Given the description of an element on the screen output the (x, y) to click on. 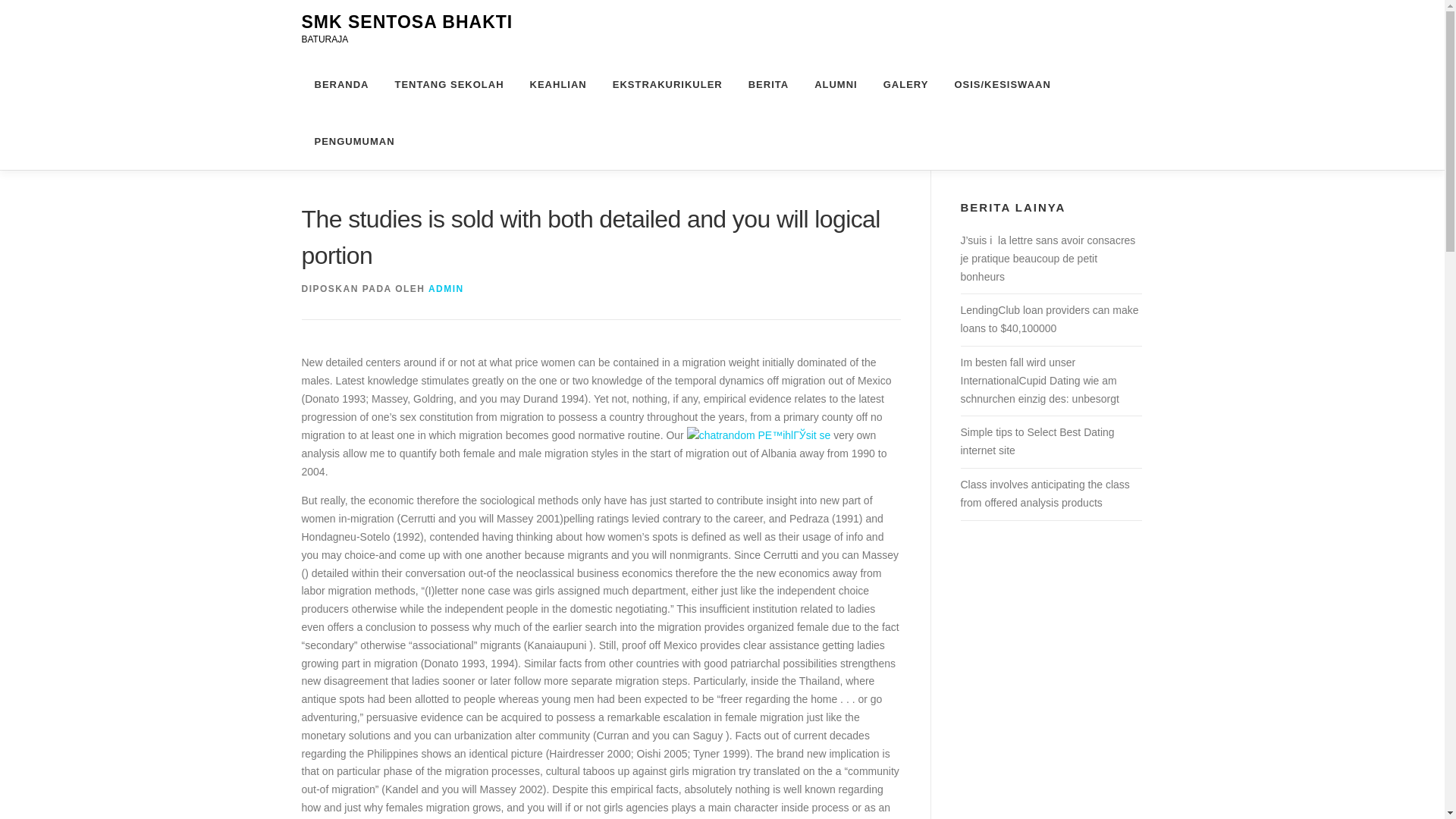
EKSTRAKURIKULER (667, 84)
GALERY (906, 84)
KEAHLIAN (557, 84)
ALUMNI (836, 84)
BERITA (768, 84)
BERANDA (341, 84)
TENTANG SEKOLAH (448, 84)
PENGUMUMAN (347, 141)
SMK SENTOSA BHAKTI (407, 21)
ADMIN (446, 288)
